Given the description of an element on the screen output the (x, y) to click on. 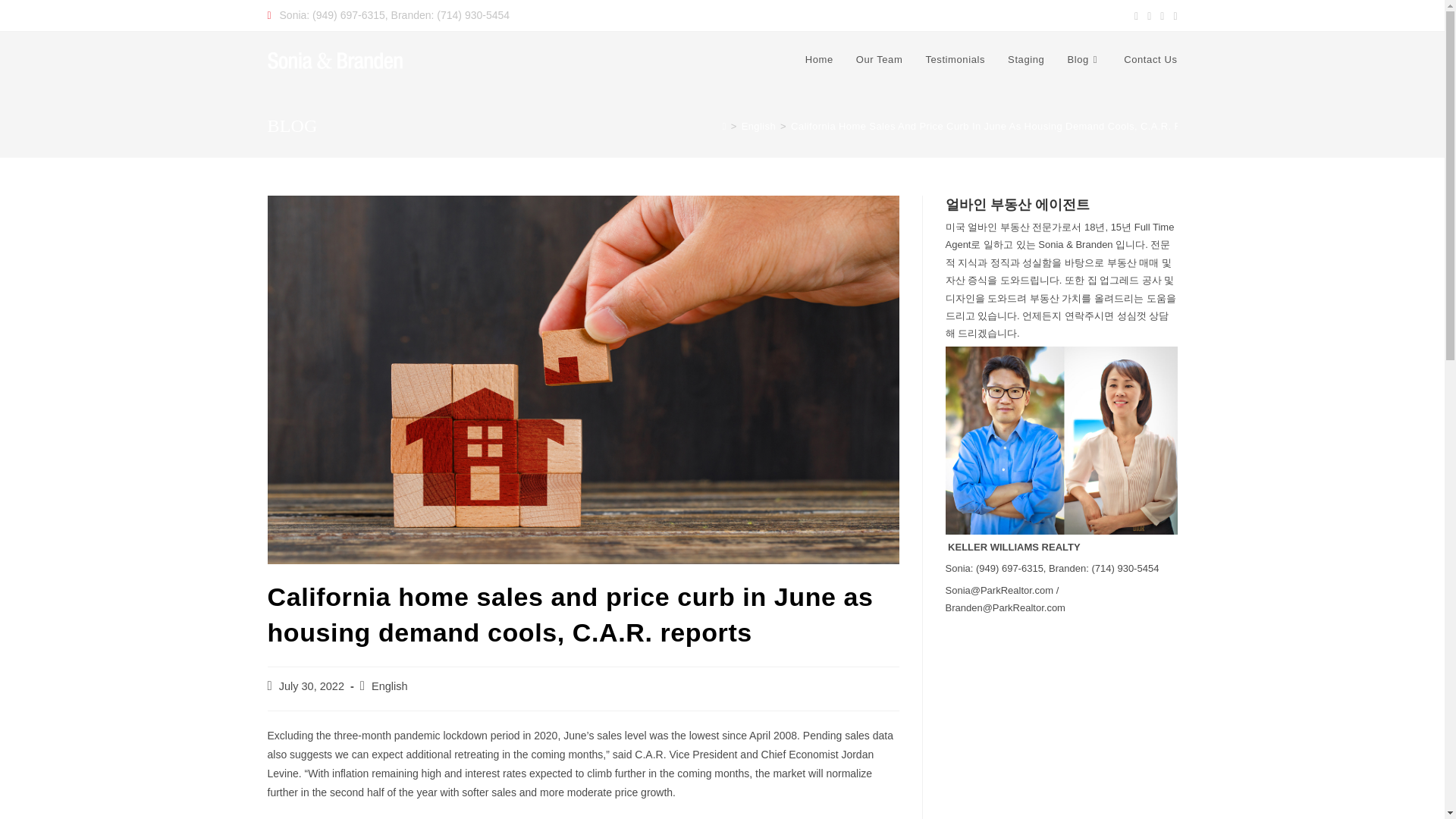
English (389, 686)
Testimonials (954, 59)
Our Team (879, 59)
Home (818, 59)
Blog (1083, 59)
Staging (1025, 59)
Contact Us (1150, 59)
English (758, 125)
